Given the description of an element on the screen output the (x, y) to click on. 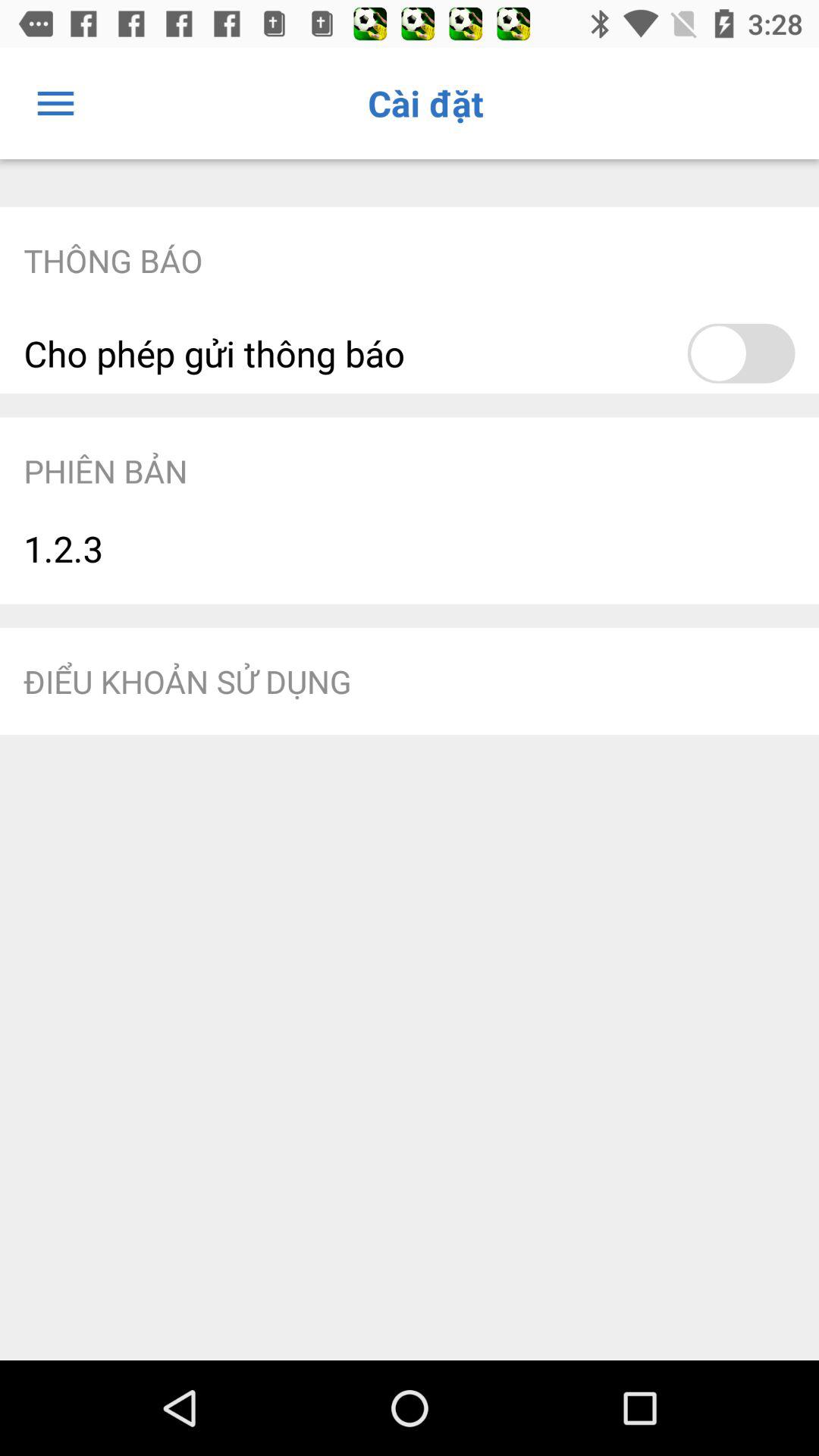
open icon at the top left corner (55, 103)
